Given the description of an element on the screen output the (x, y) to click on. 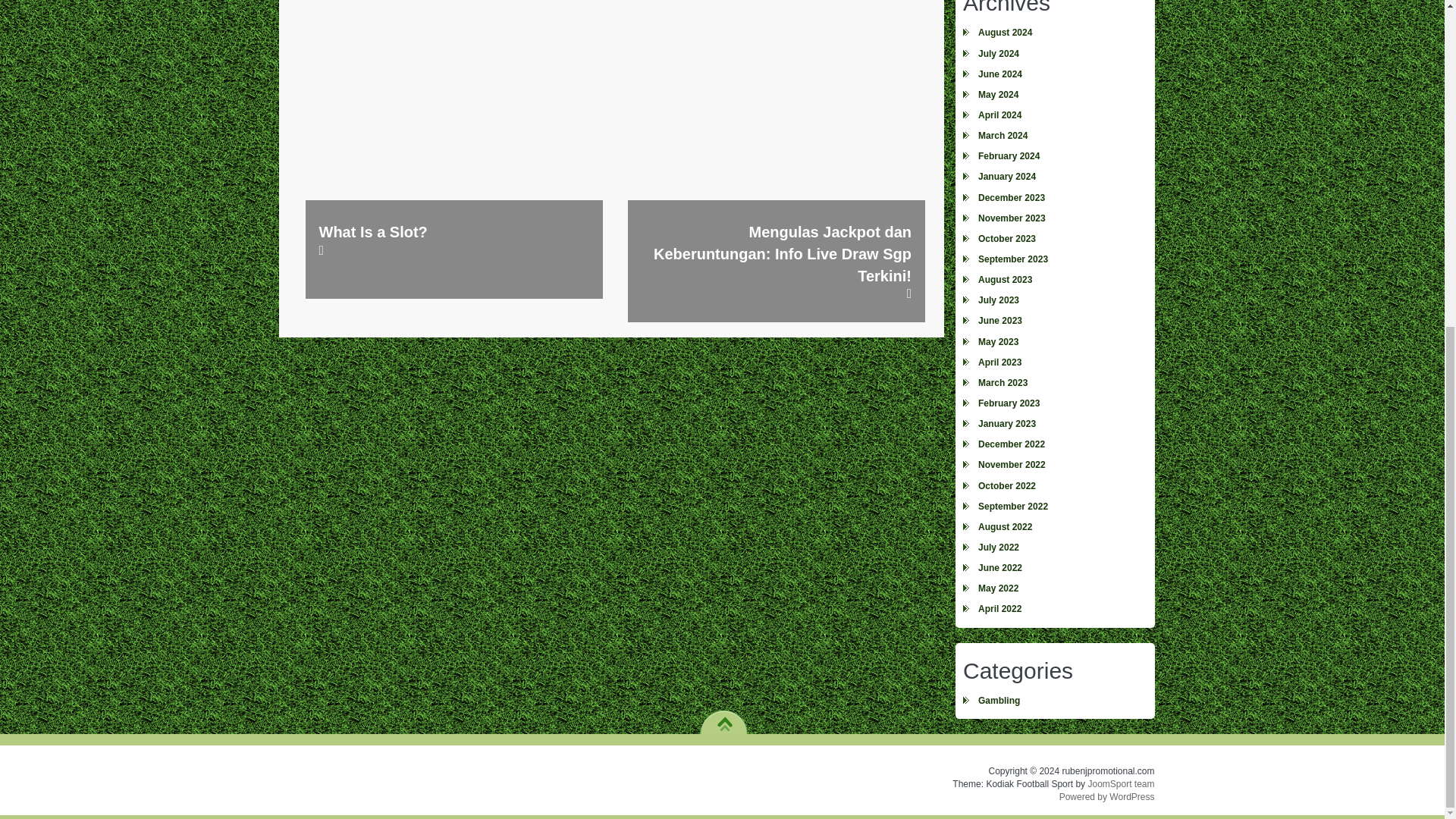
April 2023 (1054, 362)
March 2024 (1054, 136)
September 2023 (1054, 259)
October 2023 (1054, 239)
February 2024 (1054, 156)
November 2023 (1054, 218)
September 2022 (1054, 506)
July 2024 (1054, 54)
January 2024 (1054, 177)
November 2022 (1054, 465)
